Given the description of an element on the screen output the (x, y) to click on. 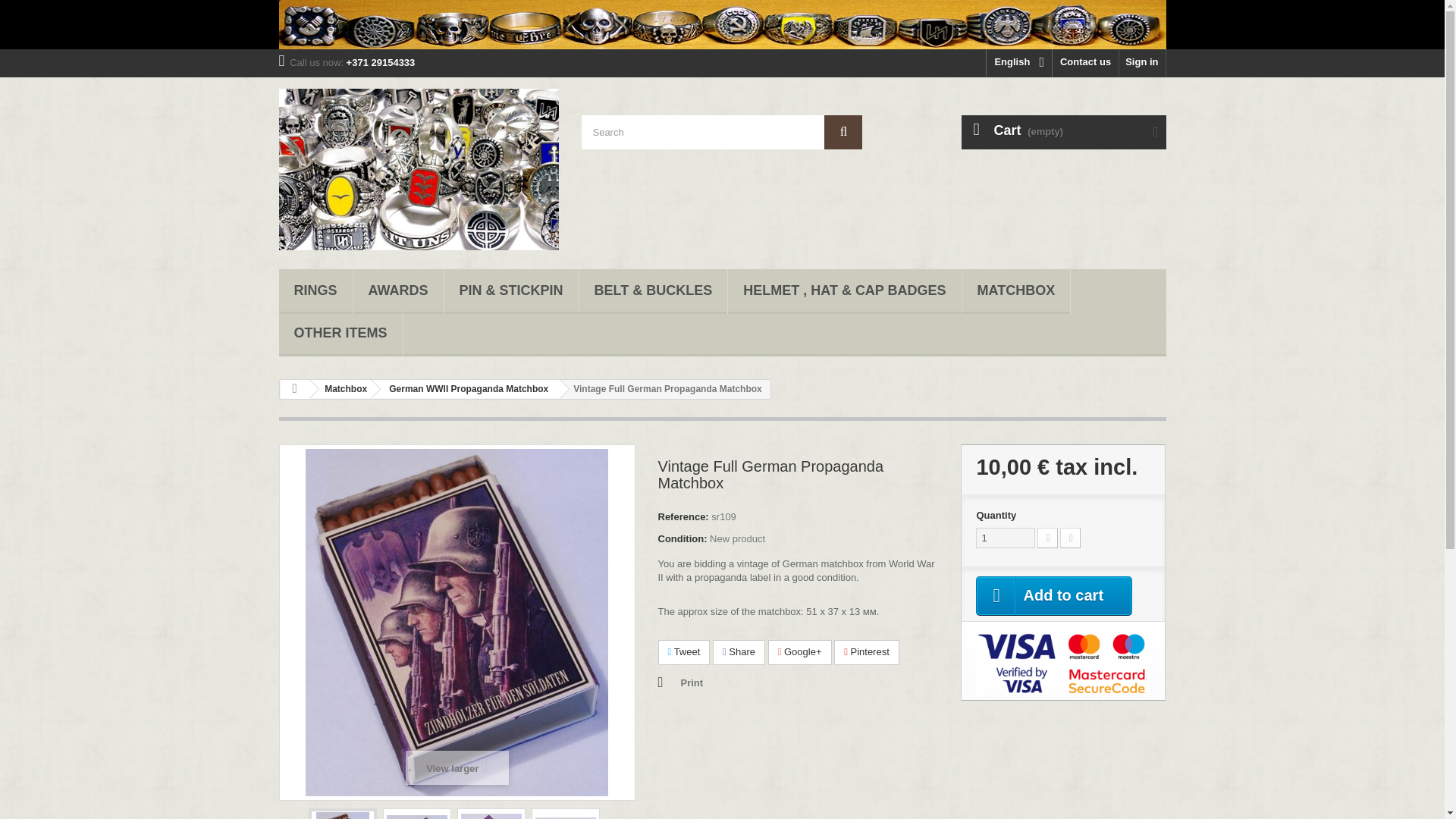
View my shopping cart (1063, 132)
Contact us (1085, 62)
German rings and other war awards (722, 24)
1 (1005, 537)
RINGS (315, 291)
Rings (315, 291)
Log in to your customer account (1141, 62)
Contact us (1085, 62)
Sign in (1141, 62)
German WW2 rings and other Militaria awards (419, 169)
